Given the description of an element on the screen output the (x, y) to click on. 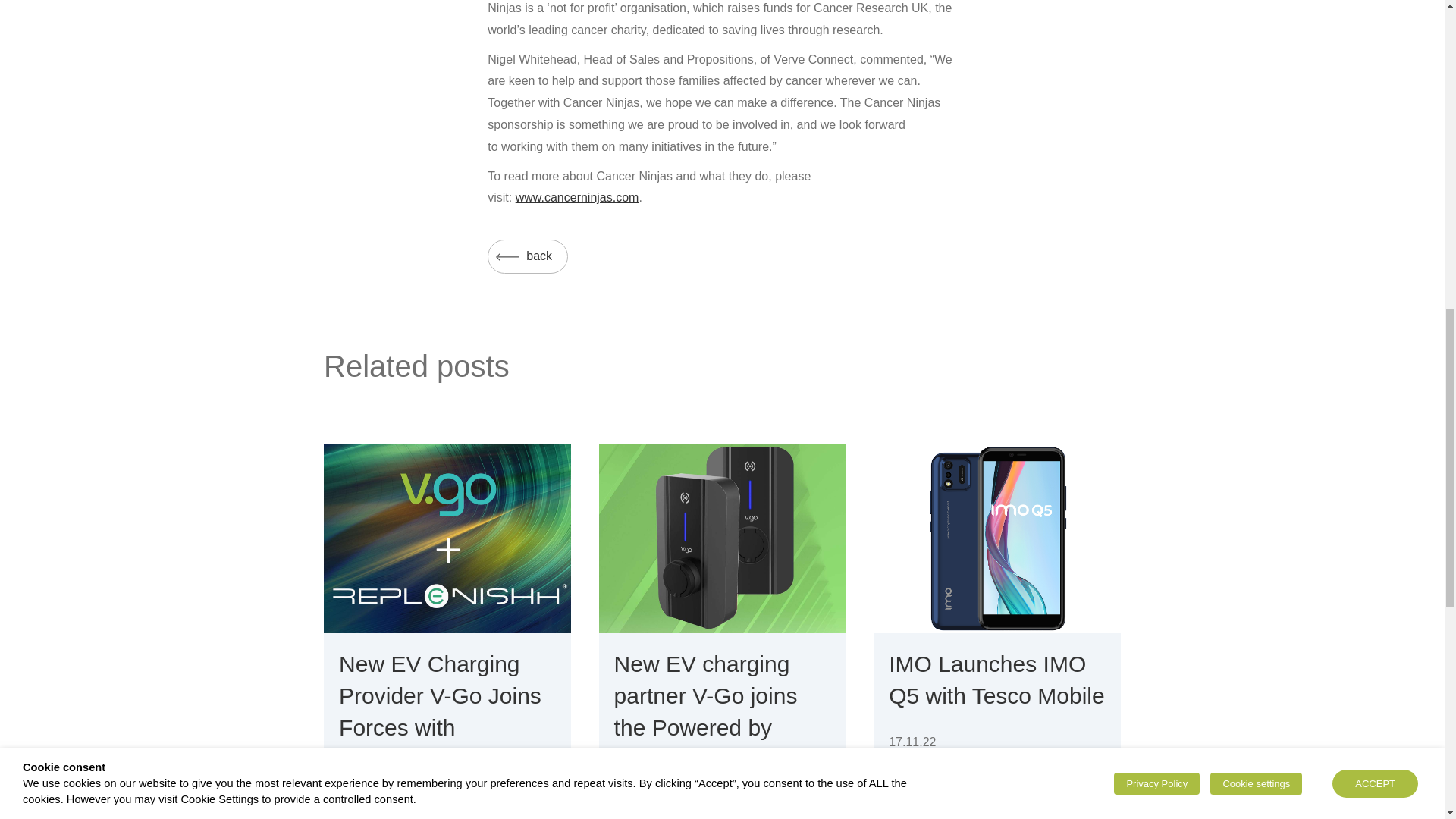
www.cancerninjas.com (577, 196)
back (527, 256)
IMO Launches IMO Q5 with Tesco Mobile (996, 679)
